Given the description of an element on the screen output the (x, y) to click on. 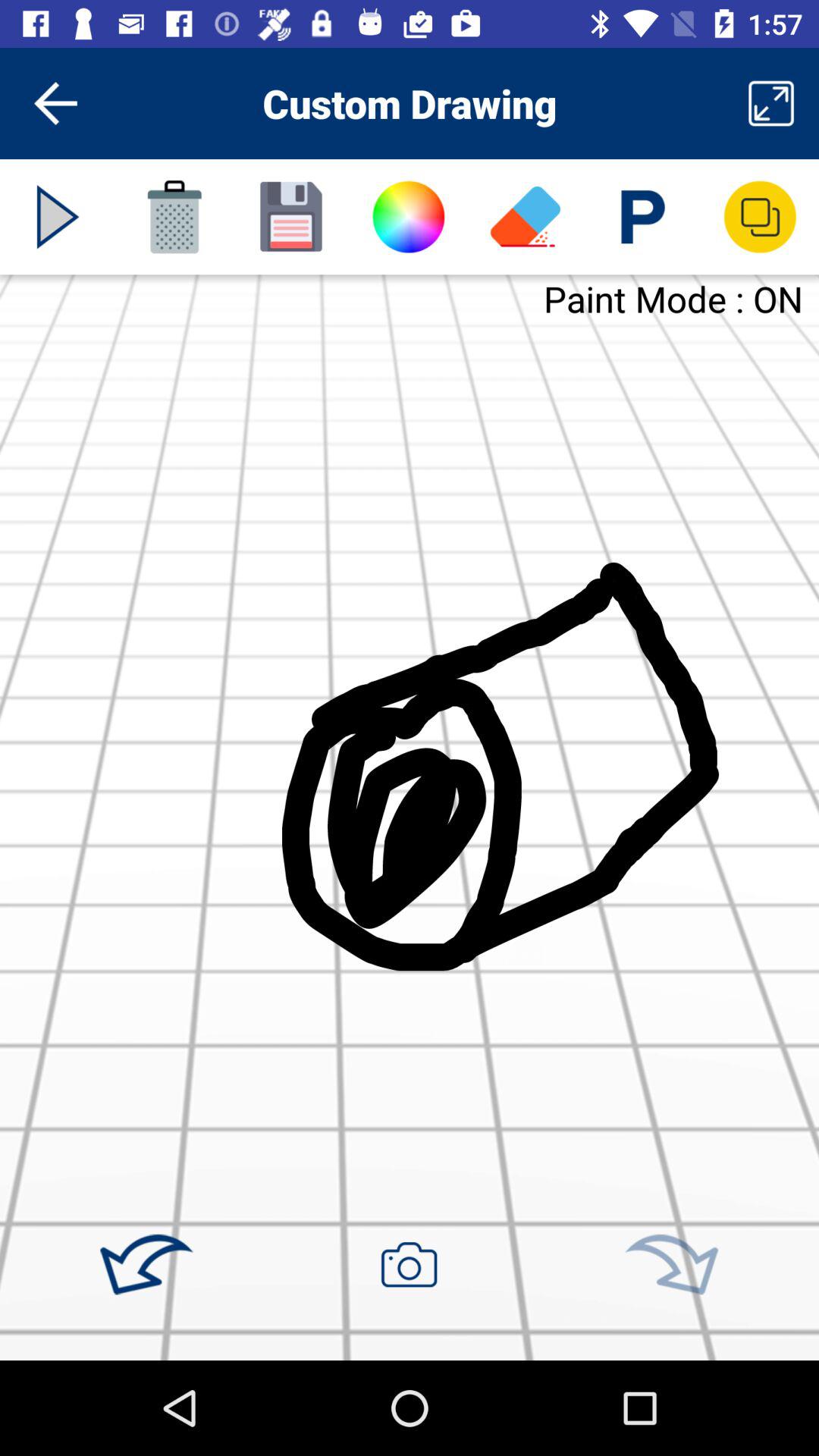
save drawing (291, 216)
